Given the description of an element on the screen output the (x, y) to click on. 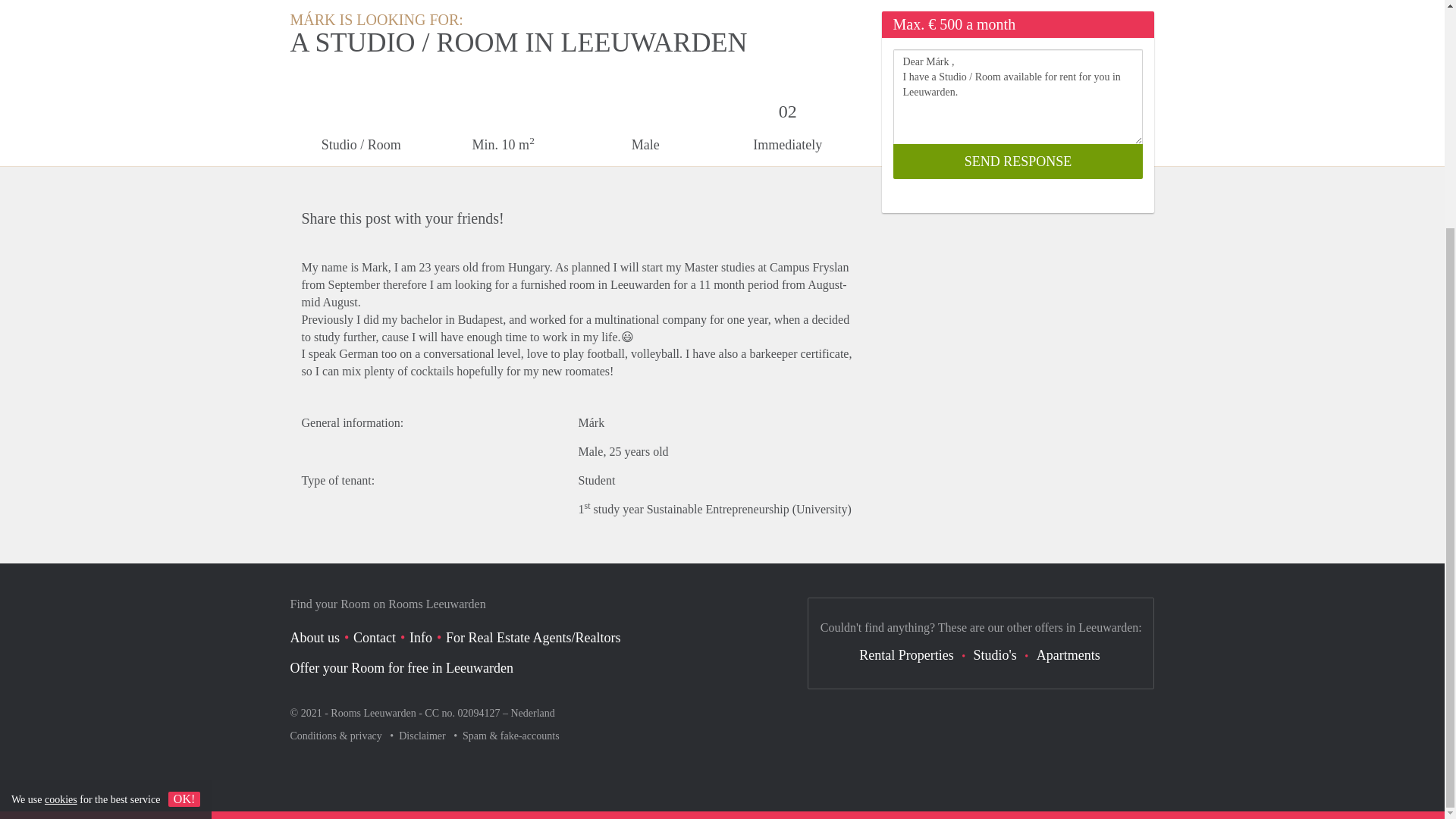
Share this calling with your friends (840, 215)
Offer your Room for free in Leeuwarden (401, 667)
Disclaimer (423, 736)
SEND RESPONSE (1017, 161)
Share this calling with your friends (661, 215)
Share this calling with your friends (750, 215)
SEND RESPONSE (1017, 161)
Share this calling with your friends (793, 215)
Our Rental Properties in Leeuwarden (906, 654)
About us (314, 637)
